Given the description of an element on the screen output the (x, y) to click on. 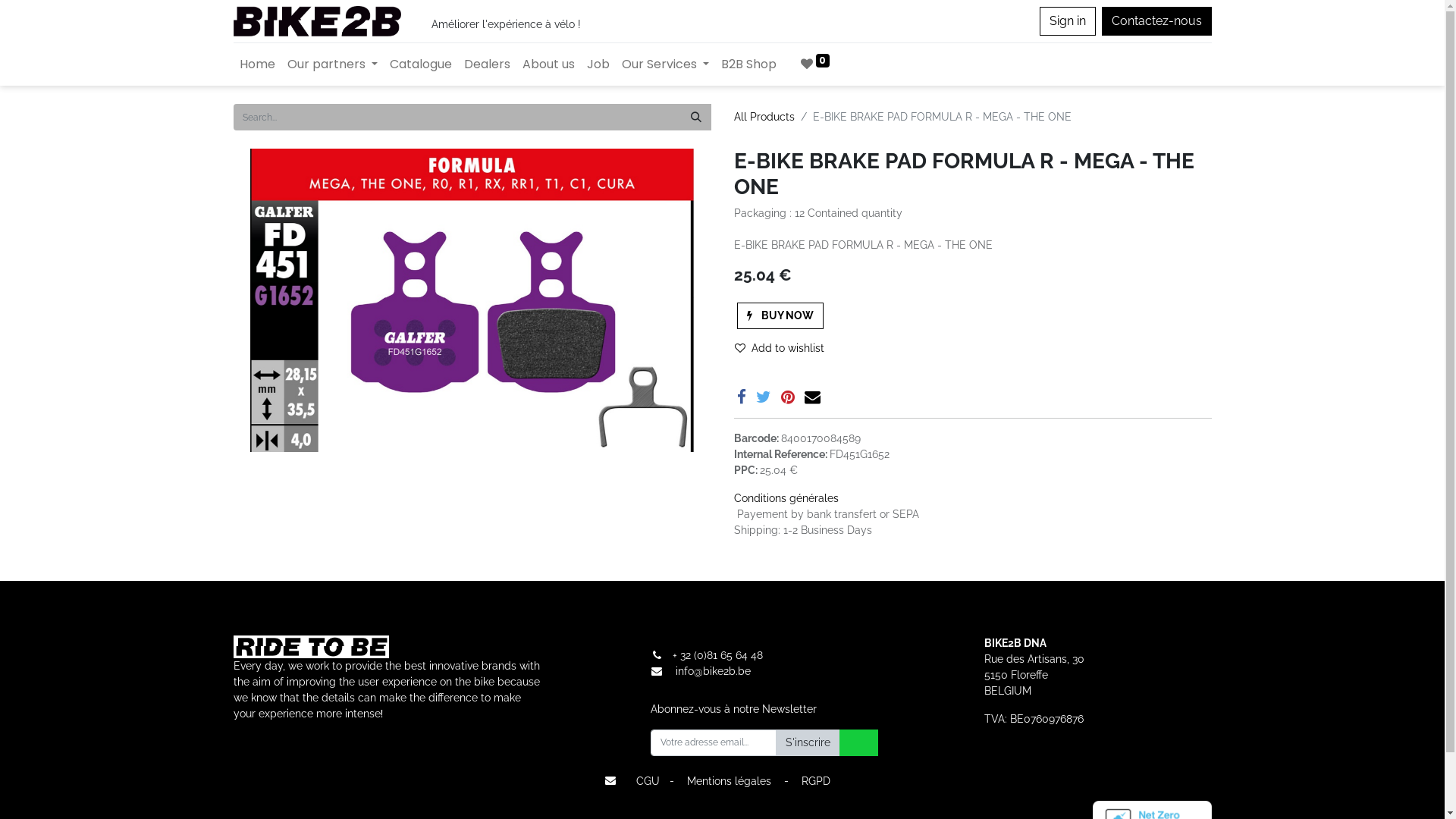
S'inscrire Element type: text (807, 742)
0 Element type: text (815, 64)
Bike2B - Innovative Products Element type: hover (317, 21)
 info@bike2b.be  Element type: text (712, 671)
Search Element type: hover (695, 116)
Contactez-nous Element type: text (1156, 20)
BUY NOW Element type: text (780, 315)
Home Element type: text (257, 64)
Add to wishlist Element type: text (785, 348)
Catalogue Element type: text (420, 64)
B2B Shop Element type: text (748, 64)
+  Element type: text (676, 655)
RGPD Element type: text (815, 781)
Dealers Element type: text (487, 64)
Our Services Element type: text (665, 64)
CGU Element type: text (647, 781)
Job Element type: text (597, 64)
About us Element type: text (548, 64)
All Products Element type: text (764, 116)
Sign in Element type: text (1066, 20)
Our partners Element type: text (331, 64)
